Given the description of an element on the screen output the (x, y) to click on. 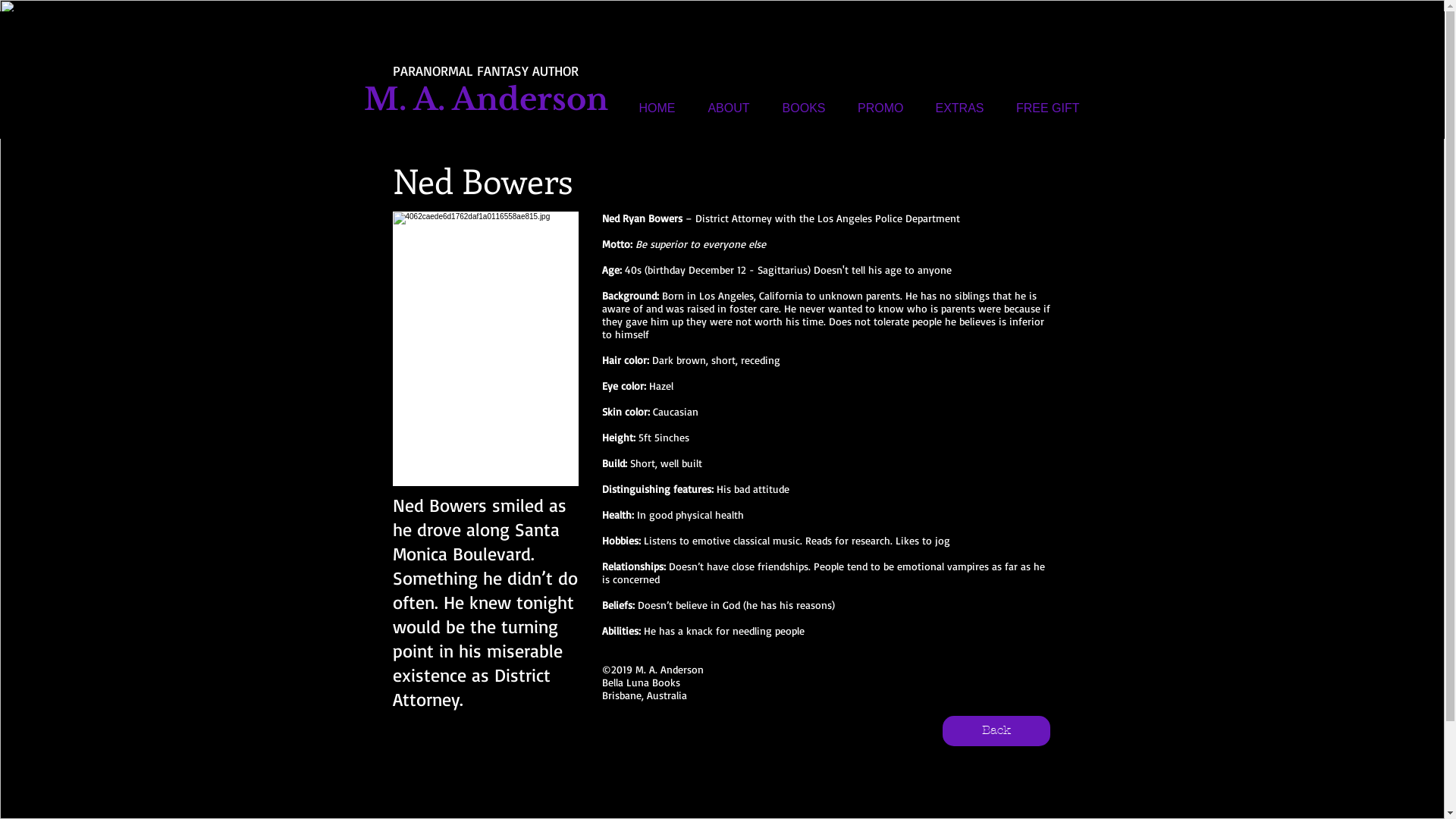
EXTRAS Element type: text (951, 108)
PROMO Element type: text (873, 108)
HOME Element type: text (648, 108)
FREE GIFT Element type: text (1039, 108)
ABOUT Element type: text (721, 108)
Back Element type: text (995, 730)
BOOKS Element type: text (796, 108)
M. A. Anderson Element type: text (486, 99)
